Given the description of an element on the screen output the (x, y) to click on. 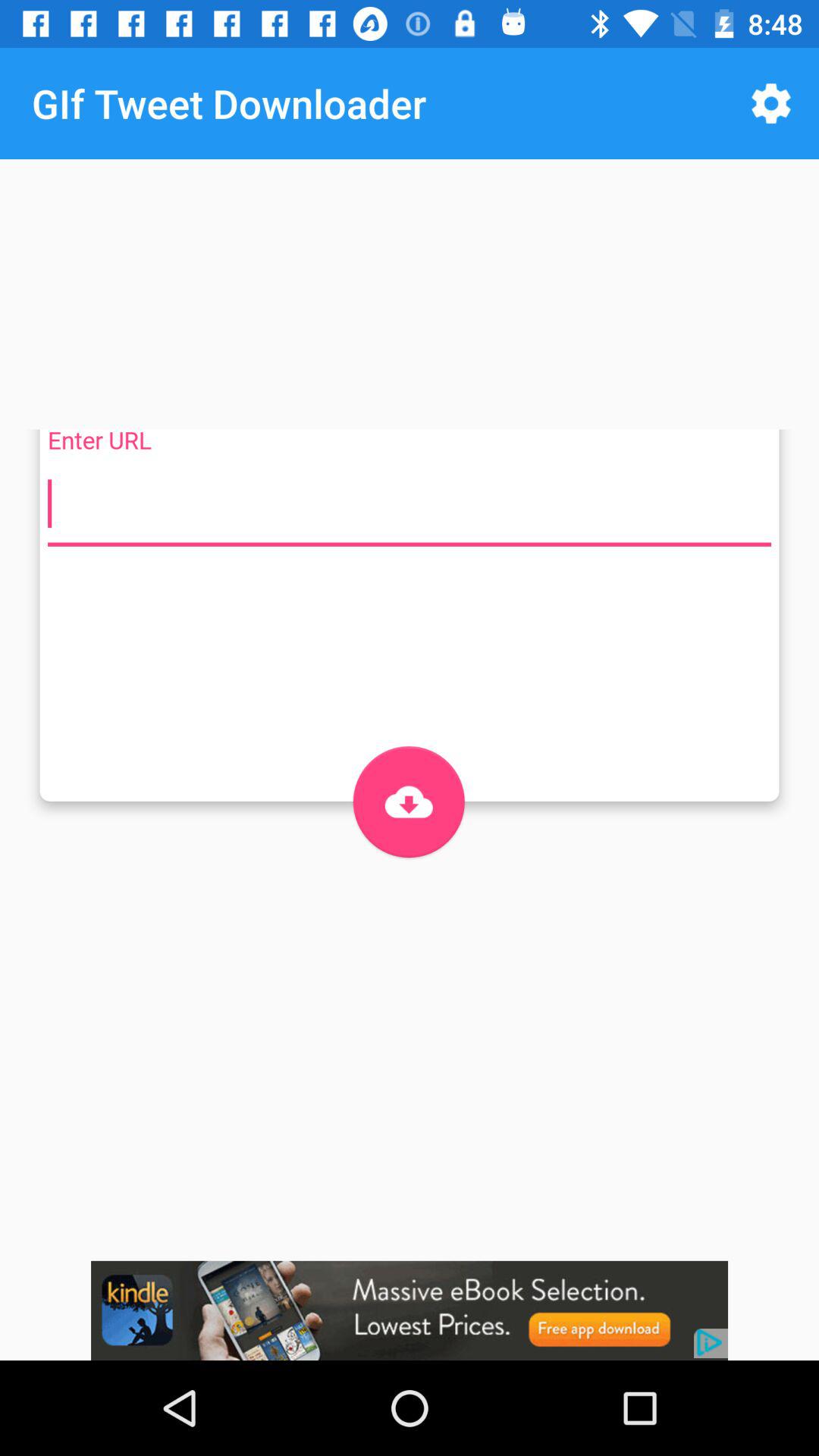
opens an advertisement (409, 1310)
